Given the description of an element on the screen output the (x, y) to click on. 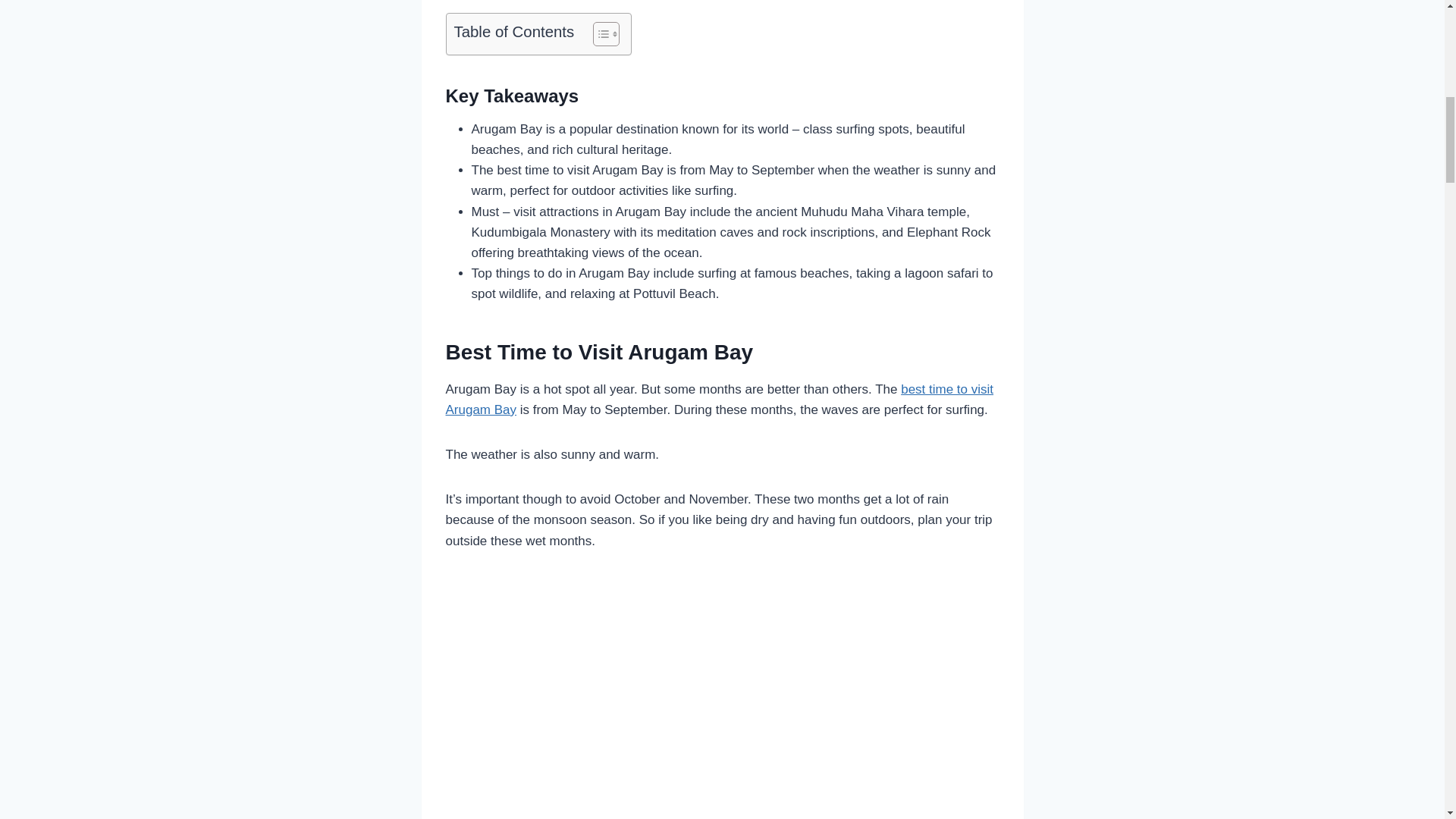
best time to visit Arugam Bay (719, 399)
